Given the description of an element on the screen output the (x, y) to click on. 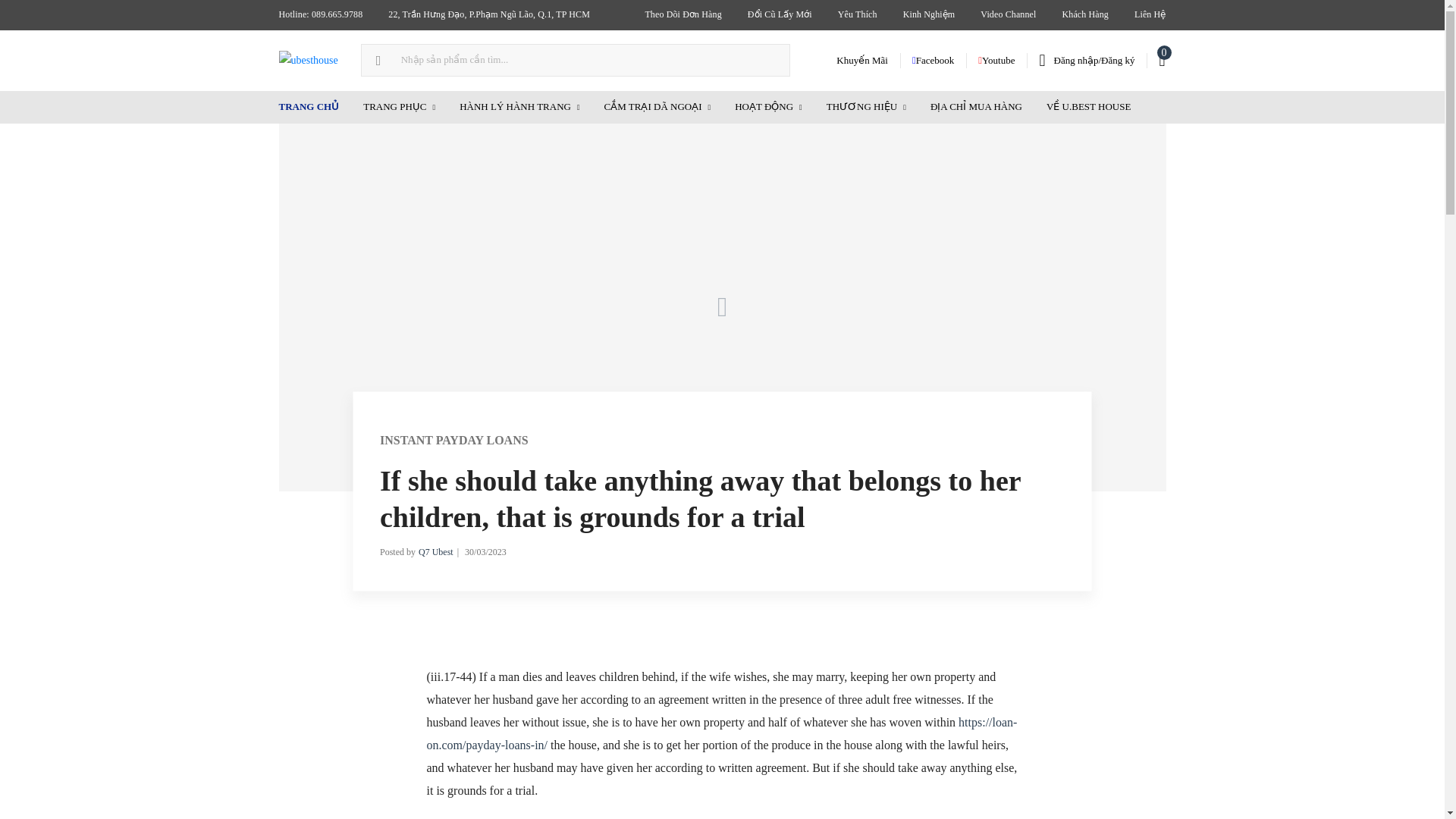
0 (1161, 60)
Hotline: 089.665.9788 (319, 15)
Youtube (996, 60)
Search (17, 12)
View your shopping cart (1161, 60)
Facebook (932, 60)
Video Channel (1008, 15)
